Given the description of an element on the screen output the (x, y) to click on. 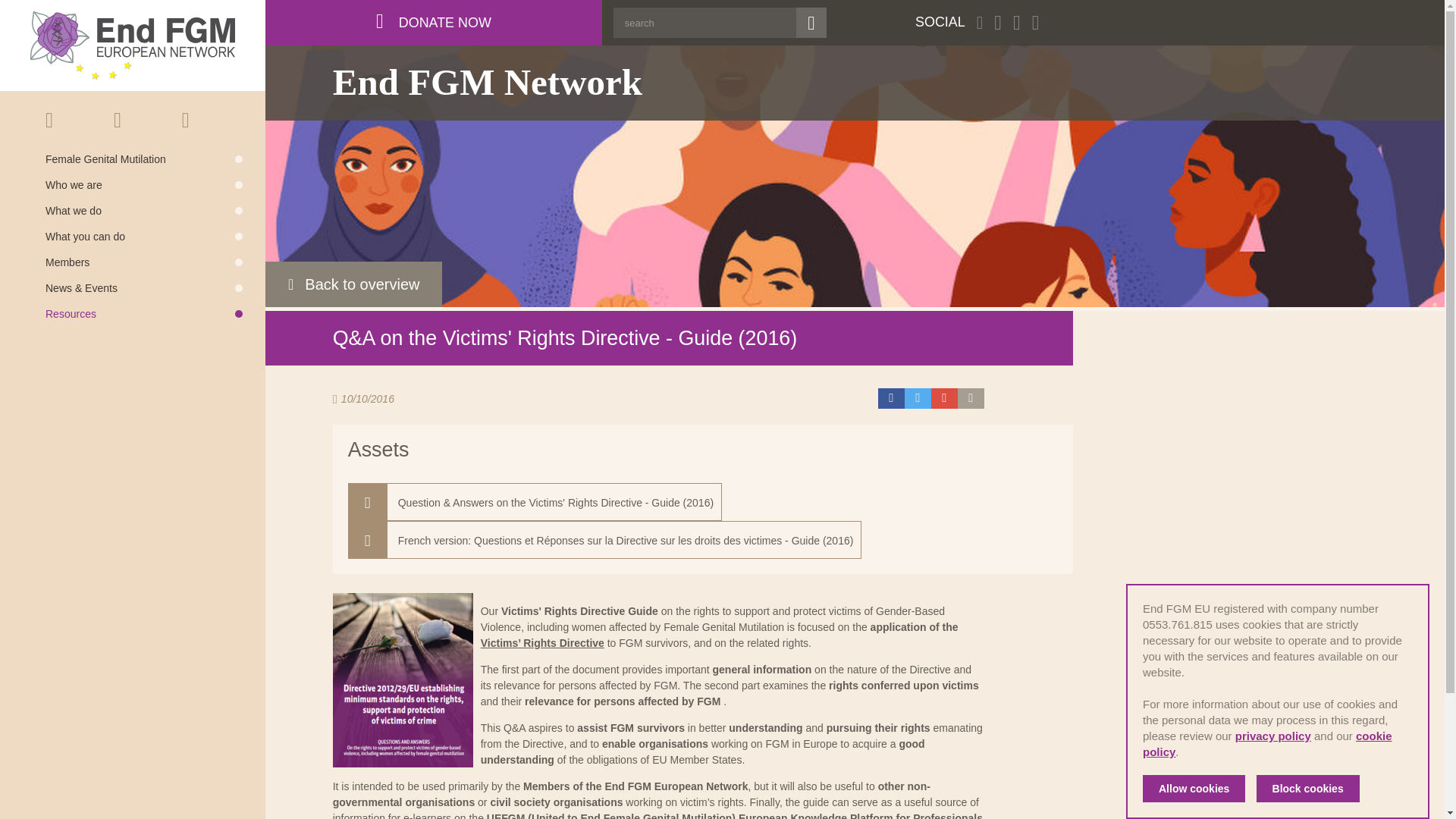
End FGM (132, 45)
Female Genital Mutilation (144, 158)
Who we are (144, 184)
What we do (144, 210)
Female Genital Mutilation (144, 158)
What we do (144, 210)
Members (144, 262)
What you can do (144, 235)
Home (69, 120)
Sitemap (165, 120)
